Given the description of an element on the screen output the (x, y) to click on. 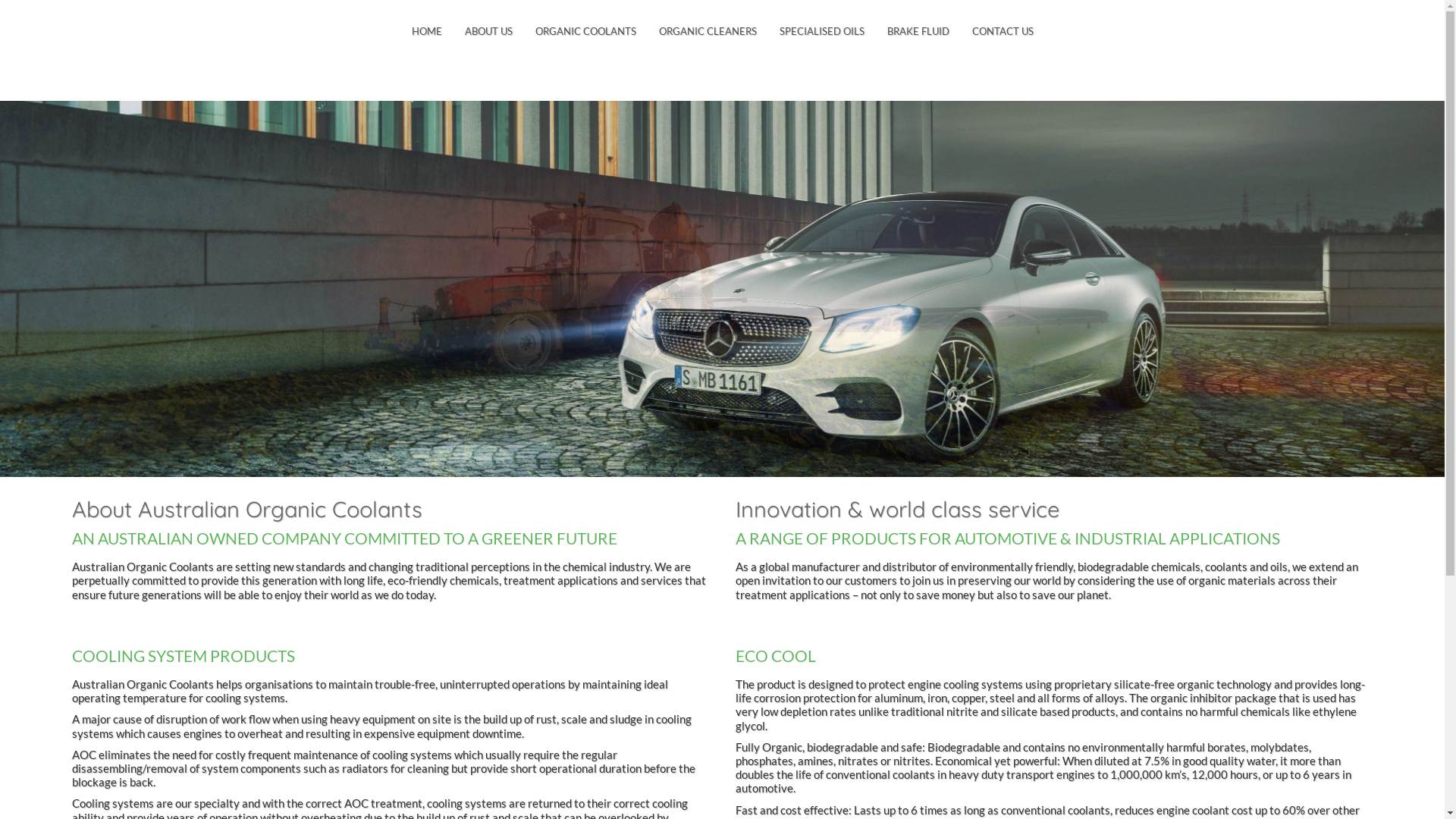
HOME Element type: text (426, 31)
ORGANIC CLEANERS Element type: text (707, 31)
ABOUT US Element type: text (488, 31)
SPECIALISED OILS Element type: text (821, 31)
BRAKE FLUID Element type: text (917, 31)
ORGANIC COOLANTS Element type: text (584, 31)
2 Element type: hover (722, 288)
CONTACT US Element type: text (1002, 31)
